Given the description of an element on the screen output the (x, y) to click on. 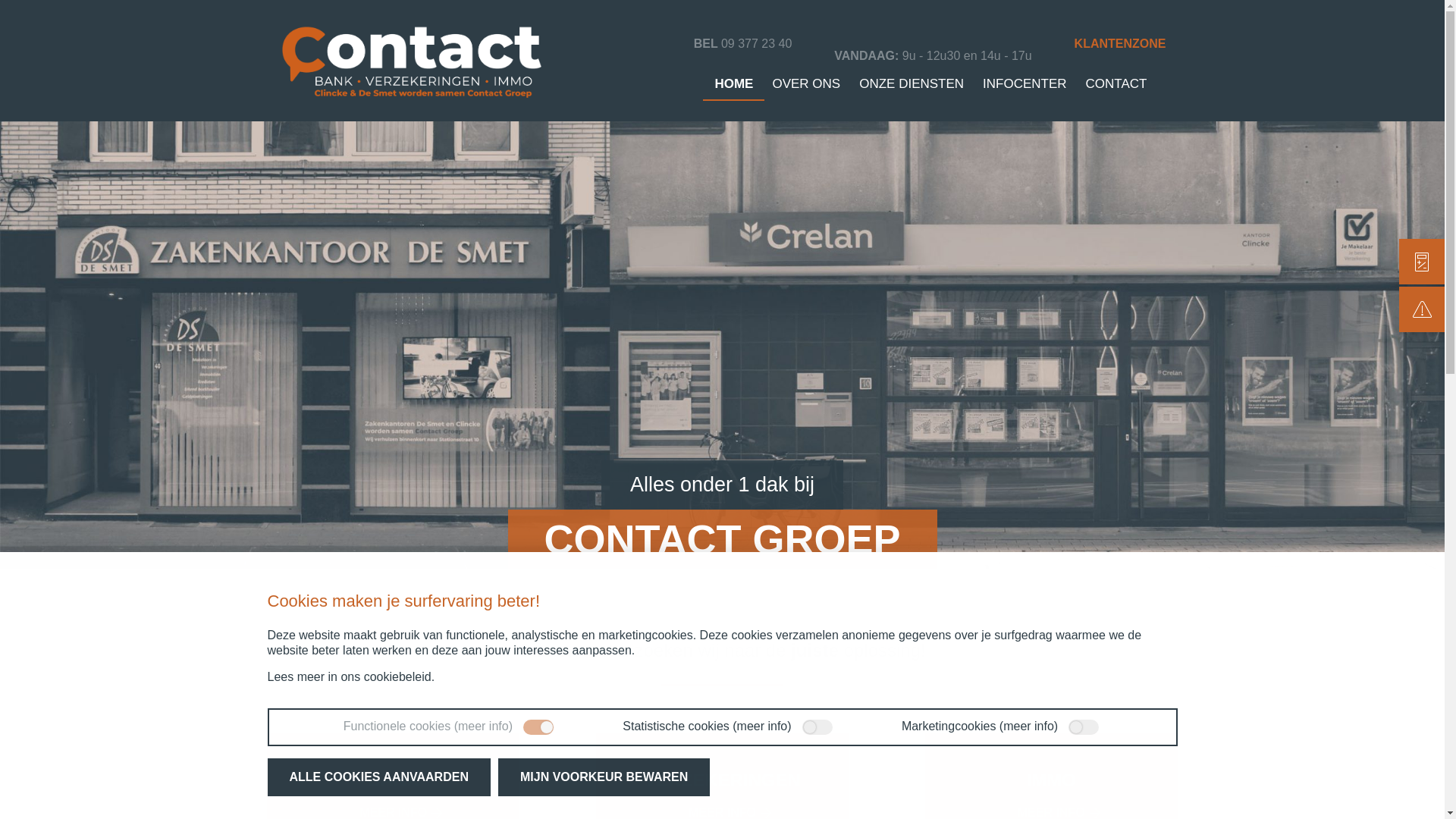
banner Element type: hover (722, 335)
OVER ONS Element type: text (805, 83)
INFOCENTER Element type: text (1024, 83)
CONTACT Element type: text (1116, 83)
09 377 23 40 Element type: text (756, 43)
ONZE DIENSTEN Element type: text (911, 83)
ALLE COOKIES AANVAARDEN Element type: text (377, 777)
meer info Element type: text (762, 725)
VANDAAG: 9u - 12u30 en 14u - 17u Element type: text (932, 55)
meer info Element type: text (1028, 725)
HOME Element type: text (733, 83)
KLANTENZONE Element type: text (1120, 43)
MIJN VOORKEUR BEWAREN Element type: text (603, 777)
meer info Element type: text (483, 725)
ons cookiebeleid. Element type: text (387, 676)
